Given the description of an element on the screen output the (x, y) to click on. 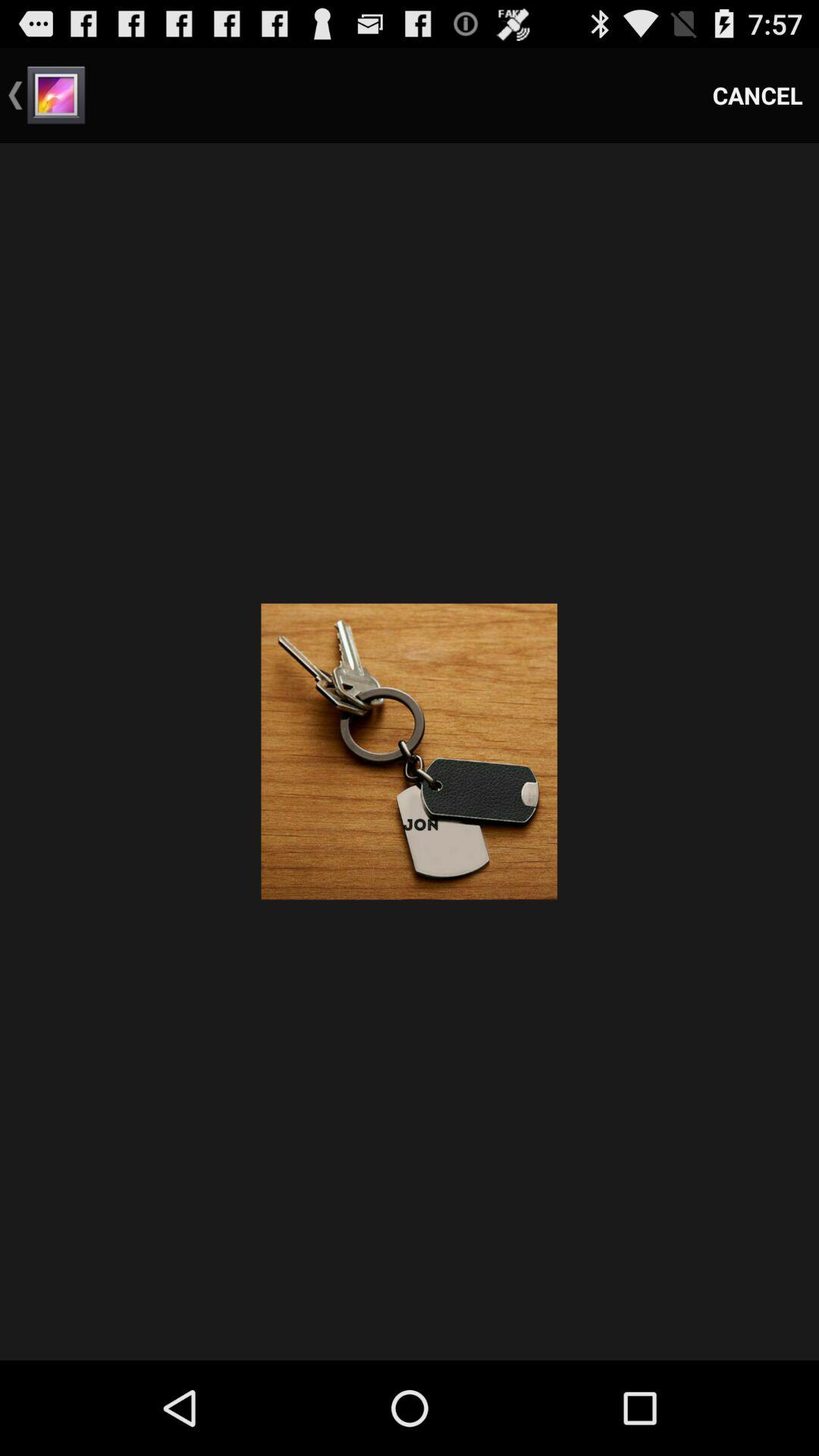
select the cancel (757, 95)
